Given the description of an element on the screen output the (x, y) to click on. 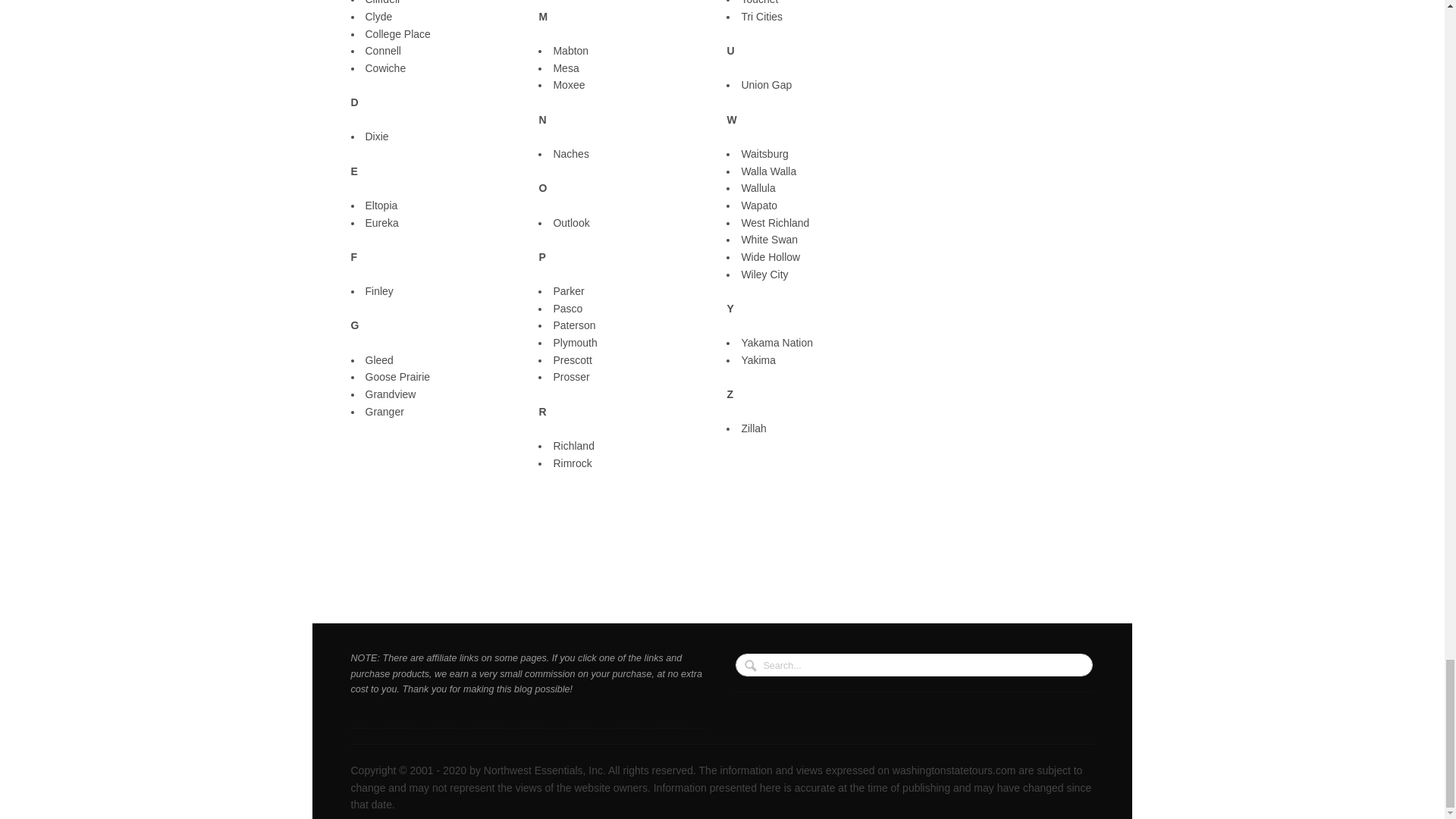
Search (752, 667)
Search (752, 667)
